Given the description of an element on the screen output the (x, y) to click on. 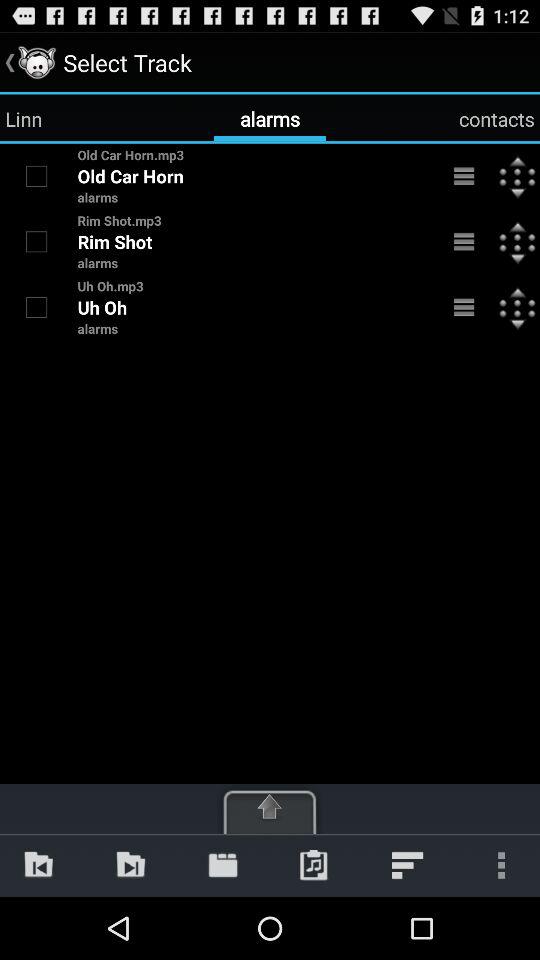
select item (36, 307)
